Given the description of an element on the screen output the (x, y) to click on. 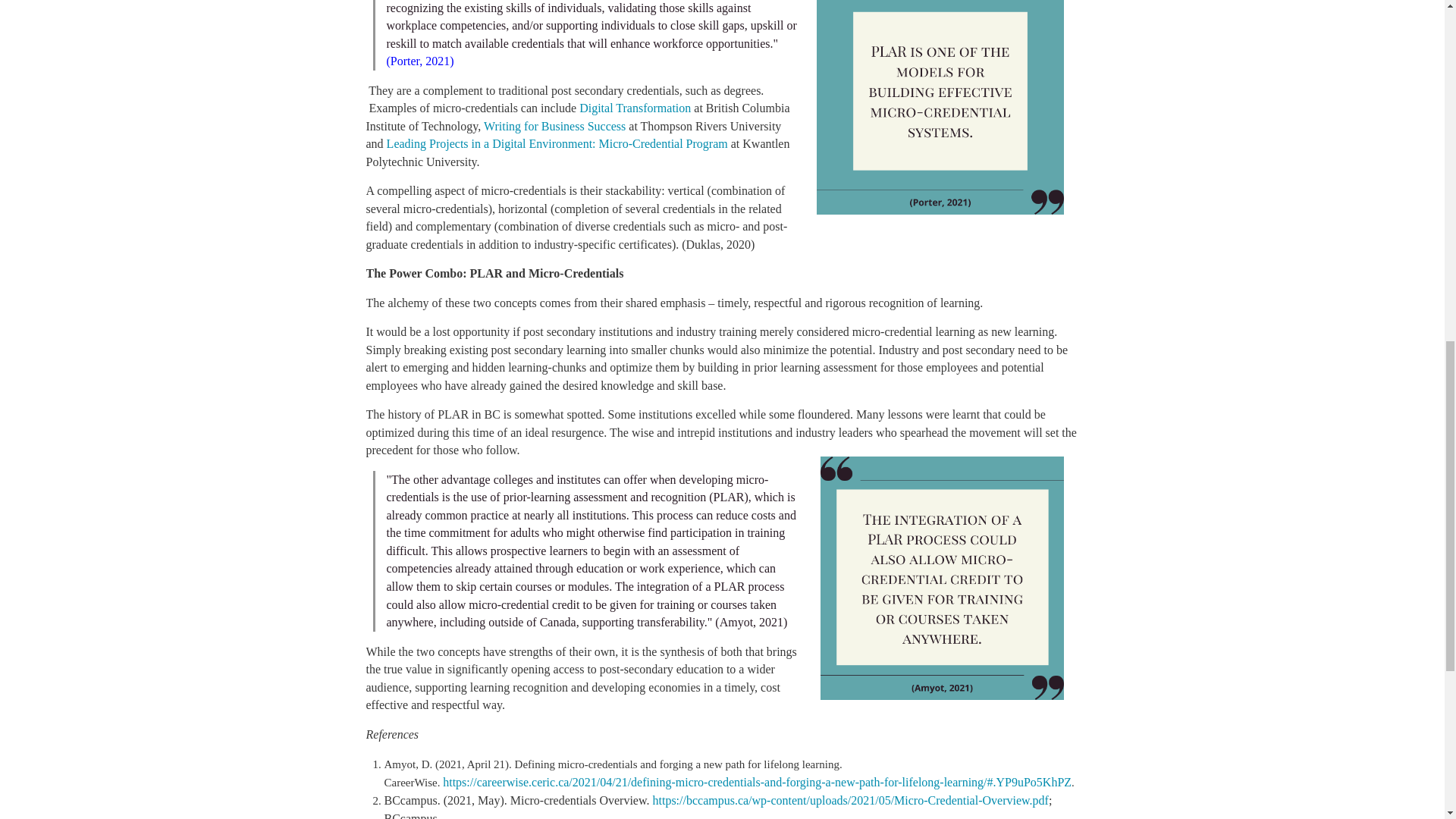
Digital Transformation (634, 107)
Writing for Business Success (554, 125)
